Given the description of an element on the screen output the (x, y) to click on. 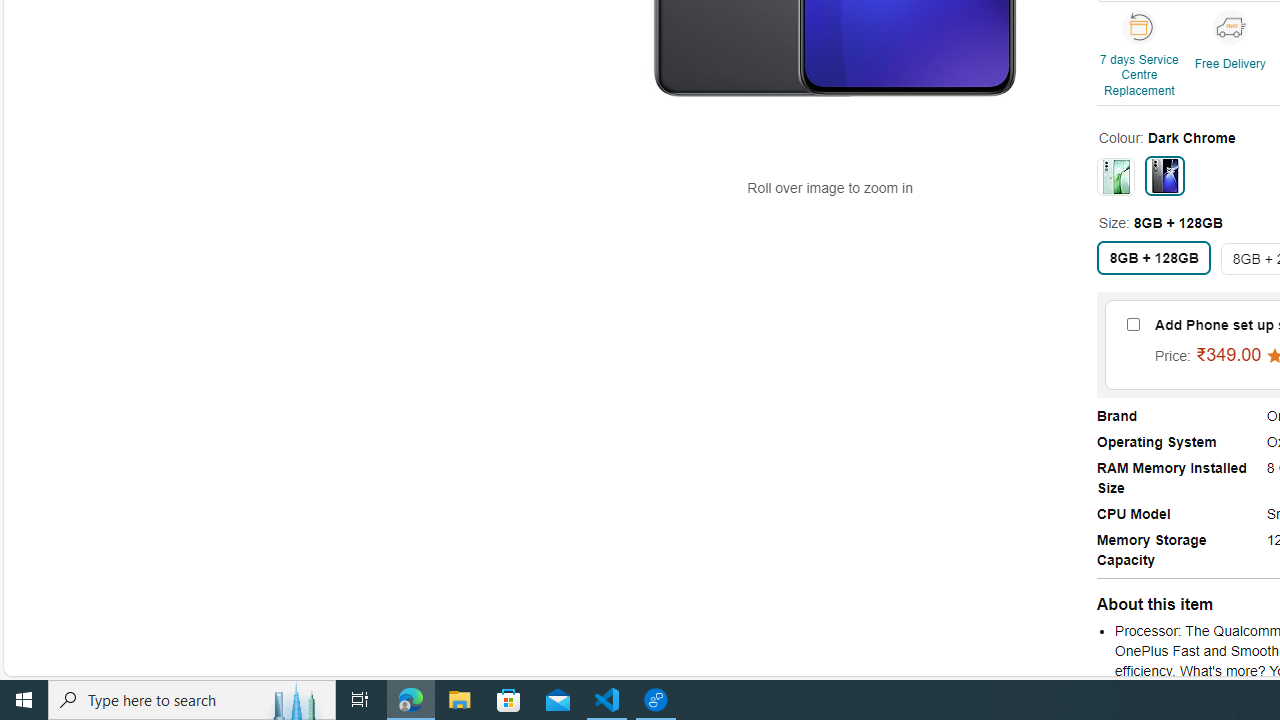
Dark Chrome (1163, 174)
7 days Service Centre Replacement (1139, 26)
Celadon Marble (1115, 176)
Celadon Marble (1115, 176)
Free Delivery (1230, 26)
Free Delivery (1232, 56)
Dark Chrome (1163, 174)
7 days Service Centre Replacement (1141, 56)
8GB + 128GB (1153, 256)
AutomationID: ppdb-add-service-checkbox (1133, 323)
